Given the description of an element on the screen output the (x, y) to click on. 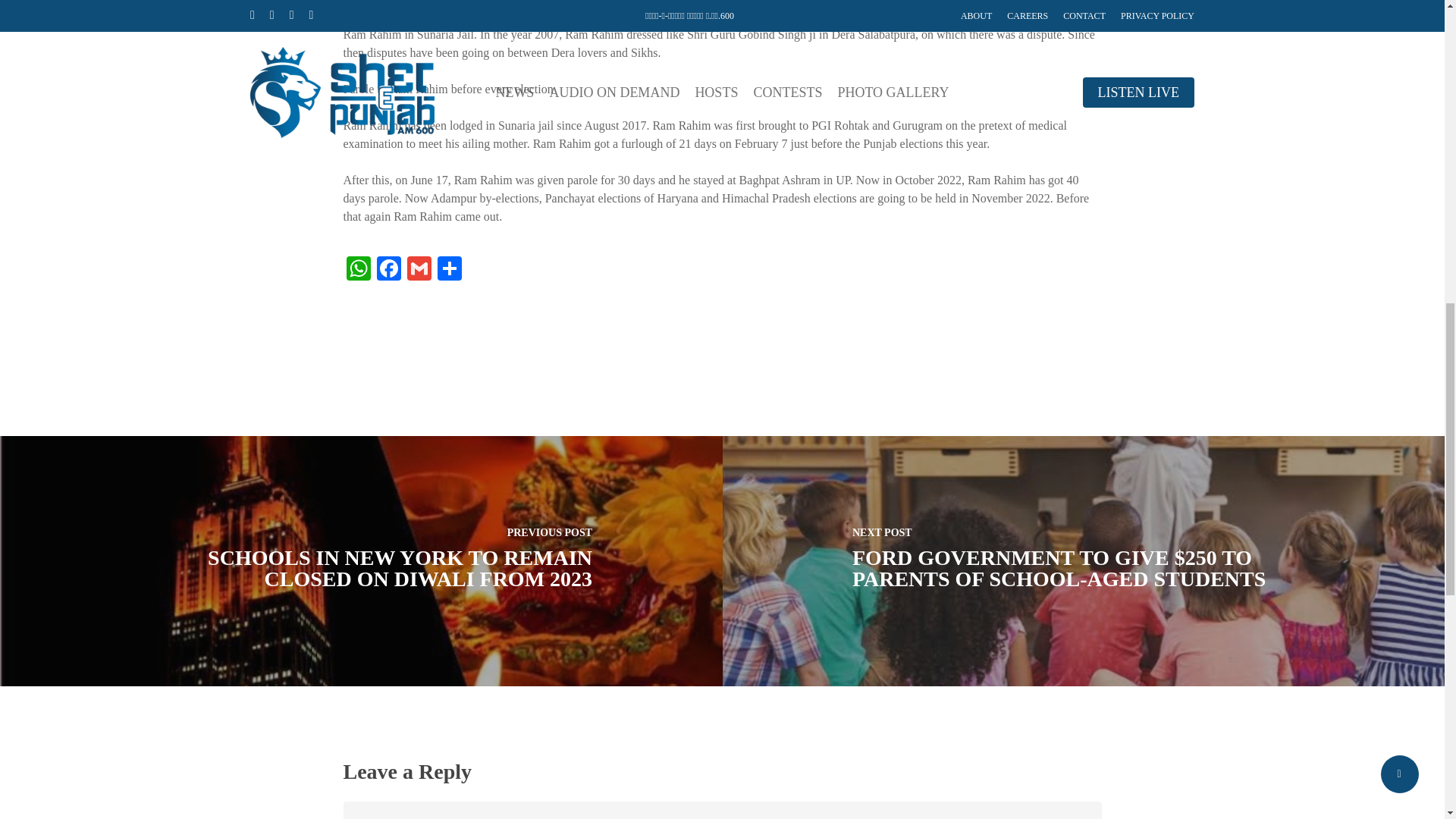
Gmail (418, 270)
WhatsApp (357, 270)
Facebook (387, 270)
Gmail (418, 270)
WhatsApp (357, 270)
Facebook (387, 270)
